Given the description of an element on the screen output the (x, y) to click on. 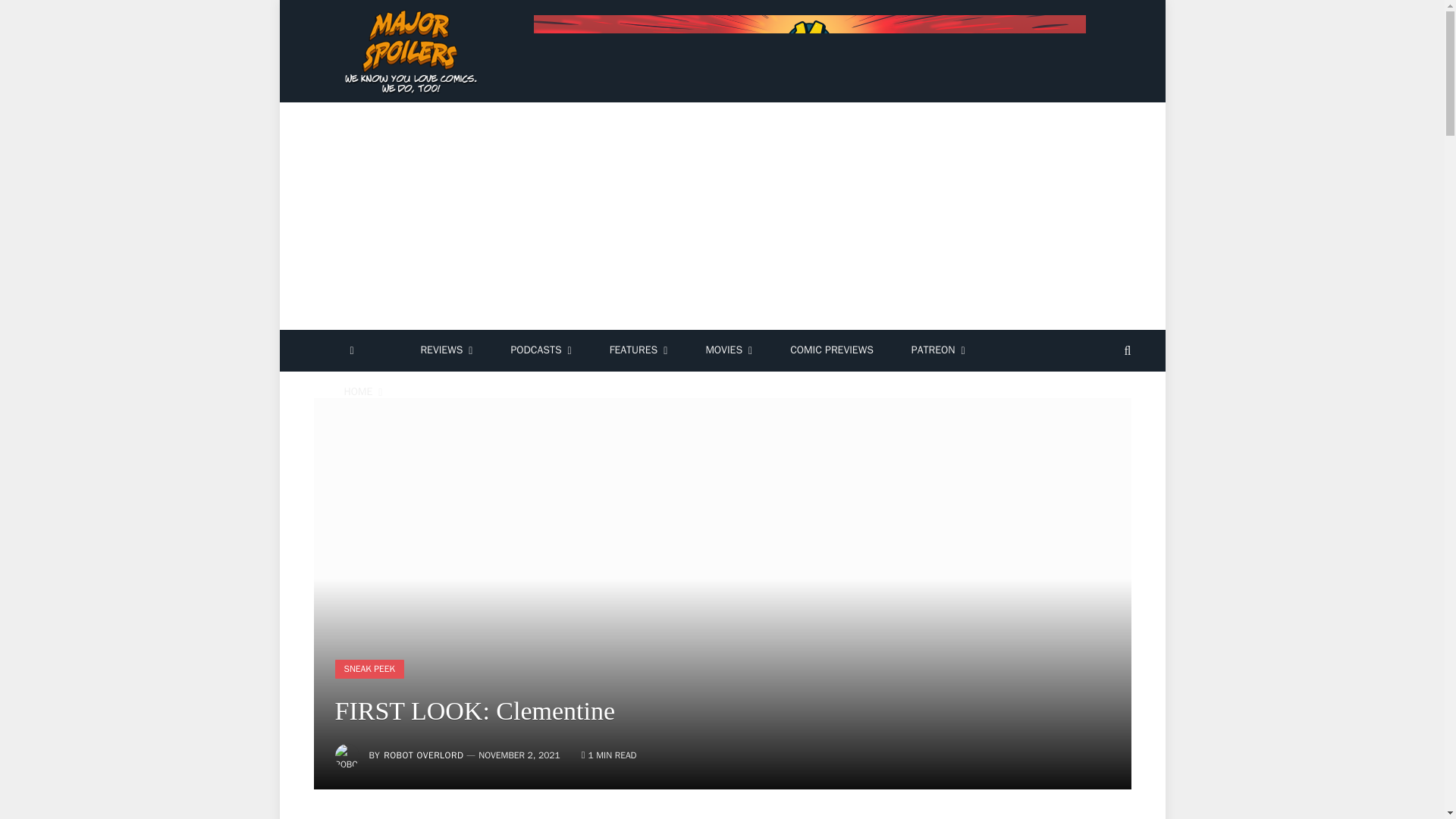
Major Spoilers (412, 51)
REVIEWS (446, 350)
PODCASTS (540, 350)
HOME (362, 392)
Posts by Robot Overlord (423, 755)
